Given the description of an element on the screen output the (x, y) to click on. 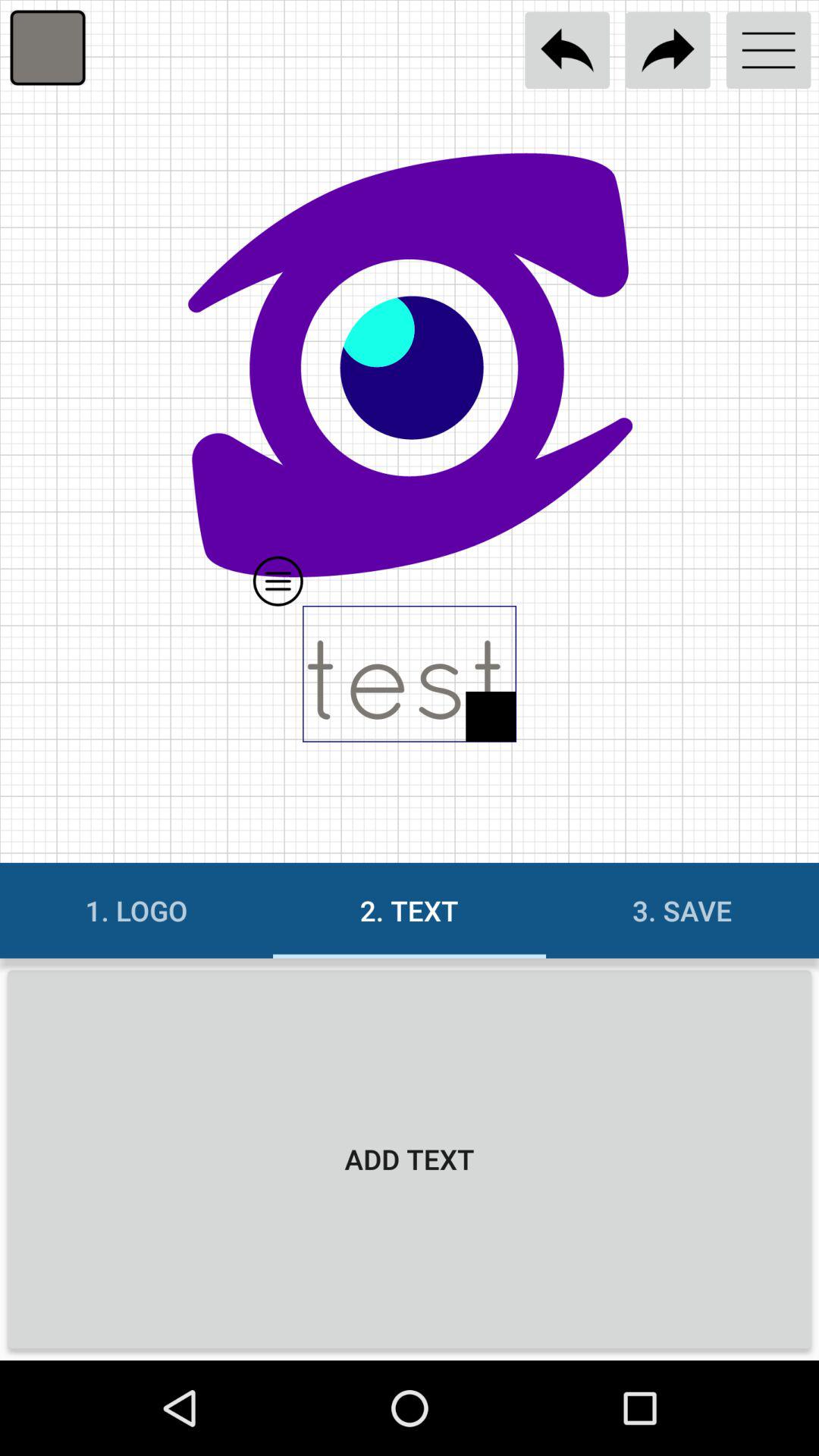
go back (566, 50)
